Given the description of an element on the screen output the (x, y) to click on. 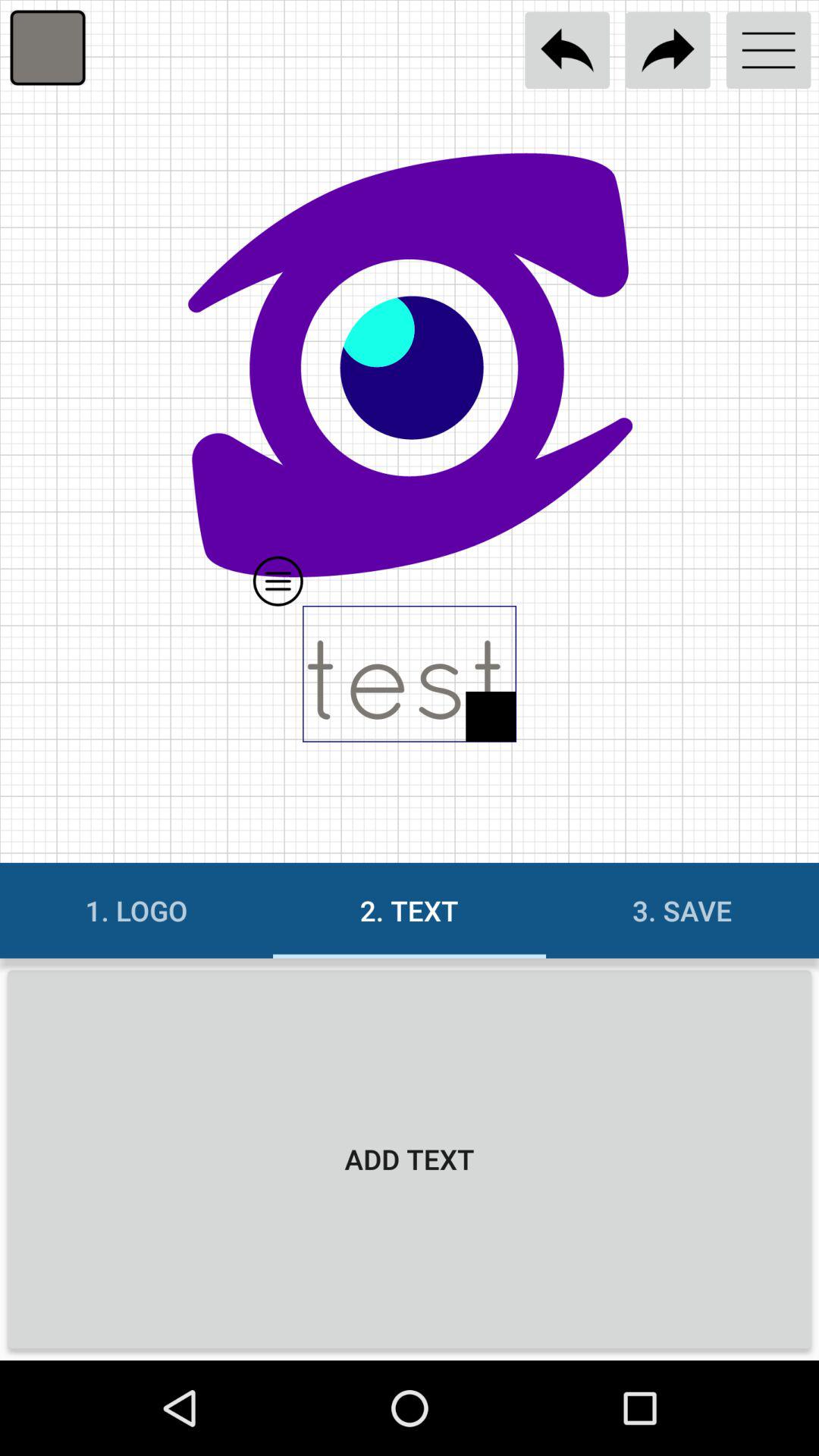
go back (566, 50)
